Given the description of an element on the screen output the (x, y) to click on. 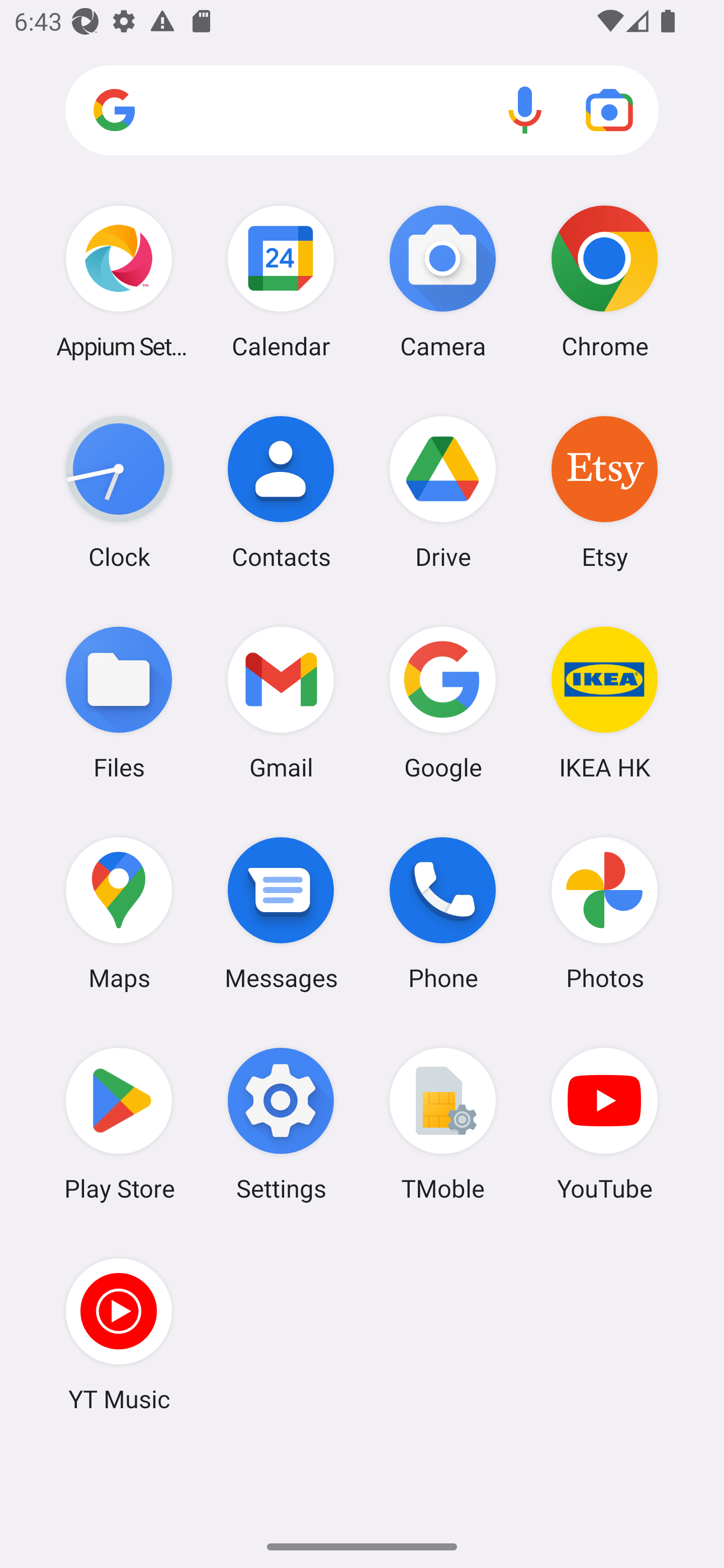
Search apps, web and more (361, 110)
Voice search (524, 109)
Google Lens (608, 109)
Appium Settings (118, 281)
Calendar (280, 281)
Camera (443, 281)
Chrome (604, 281)
Clock (118, 492)
Contacts (280, 492)
Drive (443, 492)
Etsy (604, 492)
Files (118, 702)
Gmail (280, 702)
Google (443, 702)
IKEA HK (604, 702)
Maps (118, 913)
Messages (280, 913)
Phone (443, 913)
Photos (604, 913)
Play Store (118, 1124)
Settings (280, 1124)
TMoble (443, 1124)
YouTube (604, 1124)
YT Music (118, 1334)
